Given the description of an element on the screen output the (x, y) to click on. 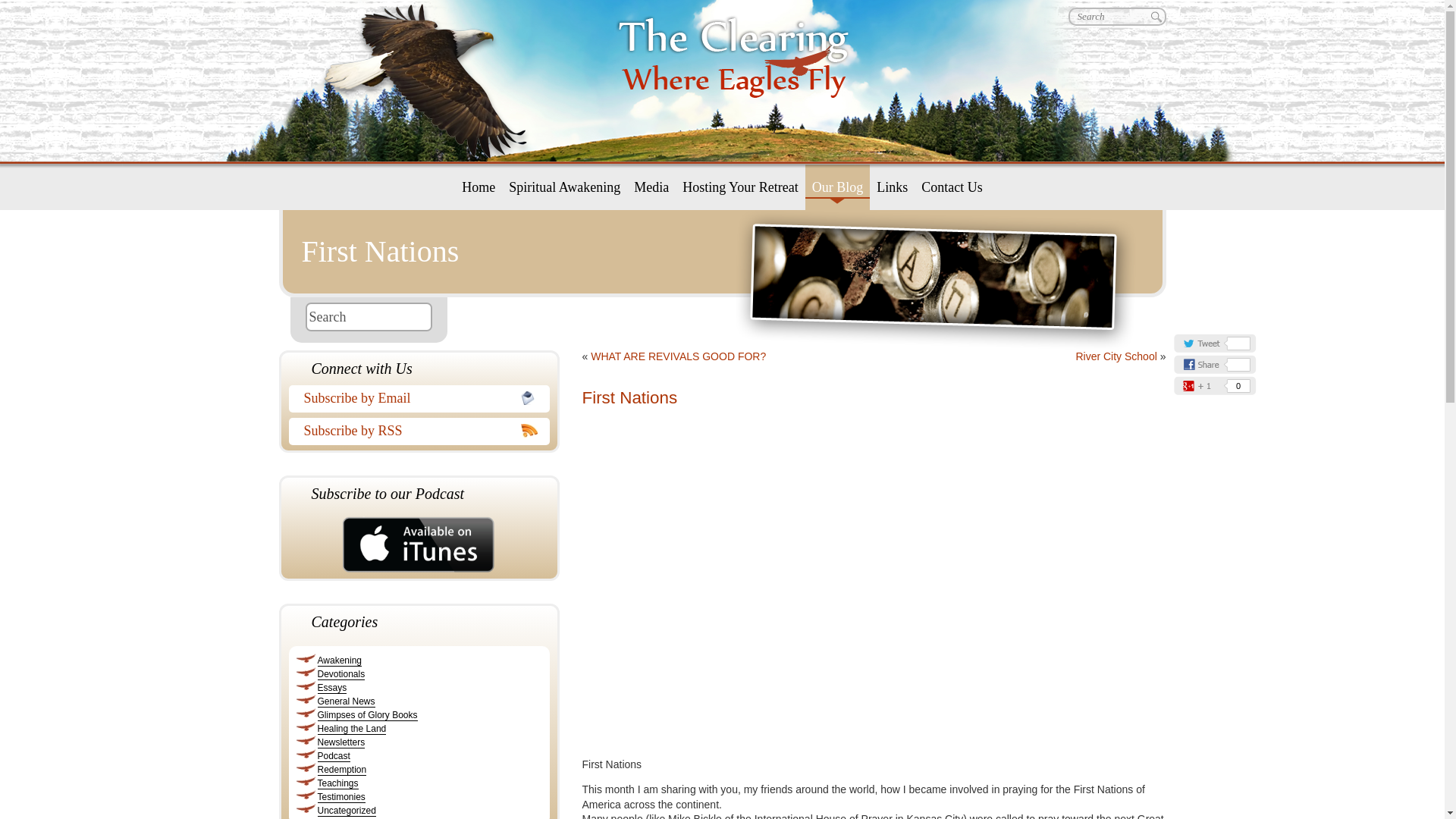
Subscribe by Email (411, 397)
Hosting Your Retreat (740, 186)
0 (1214, 383)
Home (478, 186)
Devotionals (341, 674)
Subscribe by Email (411, 397)
Subscribe by RSS (412, 430)
Essays (331, 687)
Media (651, 186)
Search (367, 316)
Links (891, 186)
Our Blog (837, 186)
Contact Us (952, 186)
Awakening (339, 660)
Spiritual Awakening (564, 186)
